Given the description of an element on the screen output the (x, y) to click on. 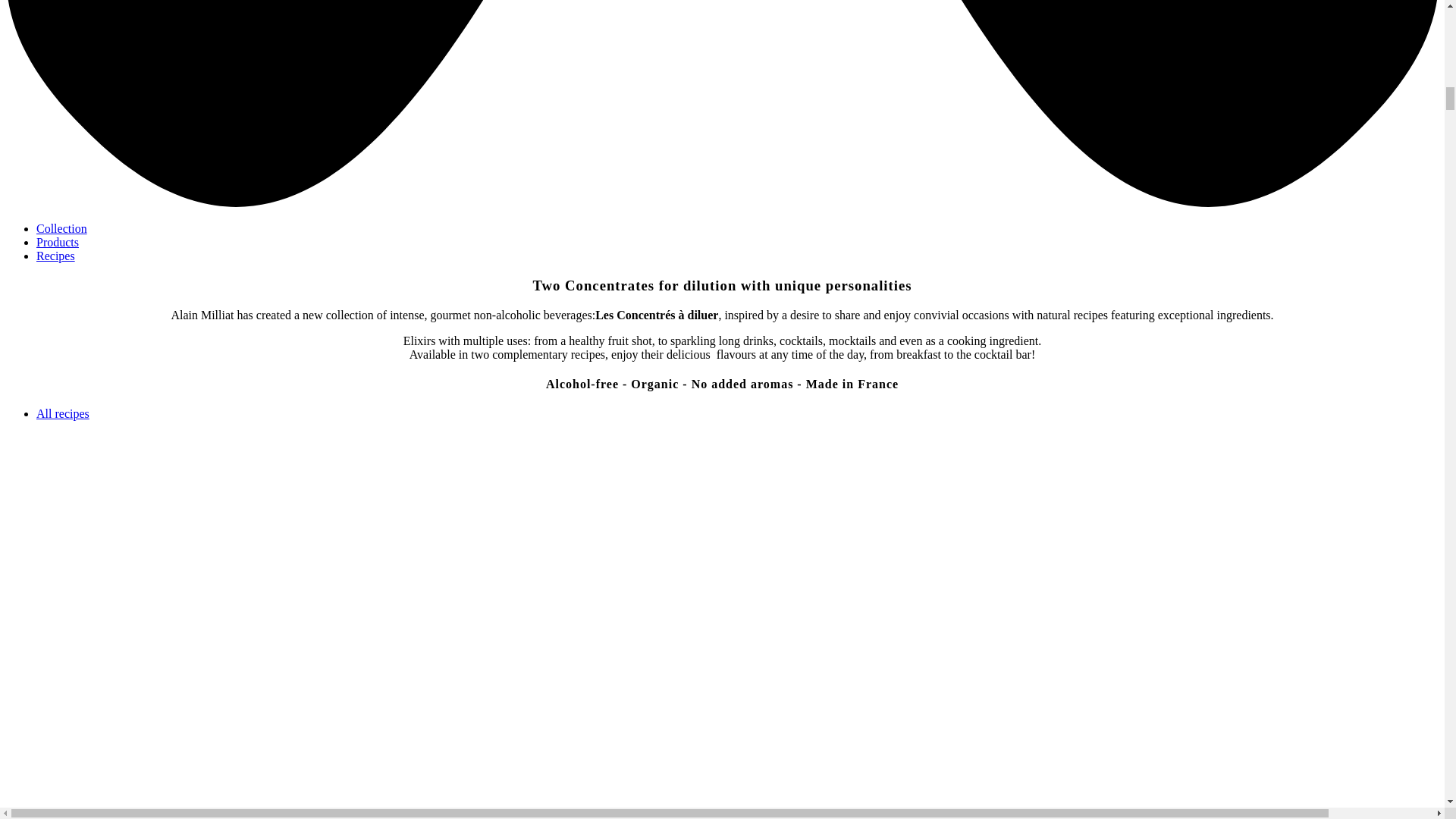
Products (57, 241)
Recipes (55, 255)
Recipes (55, 255)
Collection (61, 228)
Products (57, 241)
Collection (61, 228)
